Given the description of an element on the screen output the (x, y) to click on. 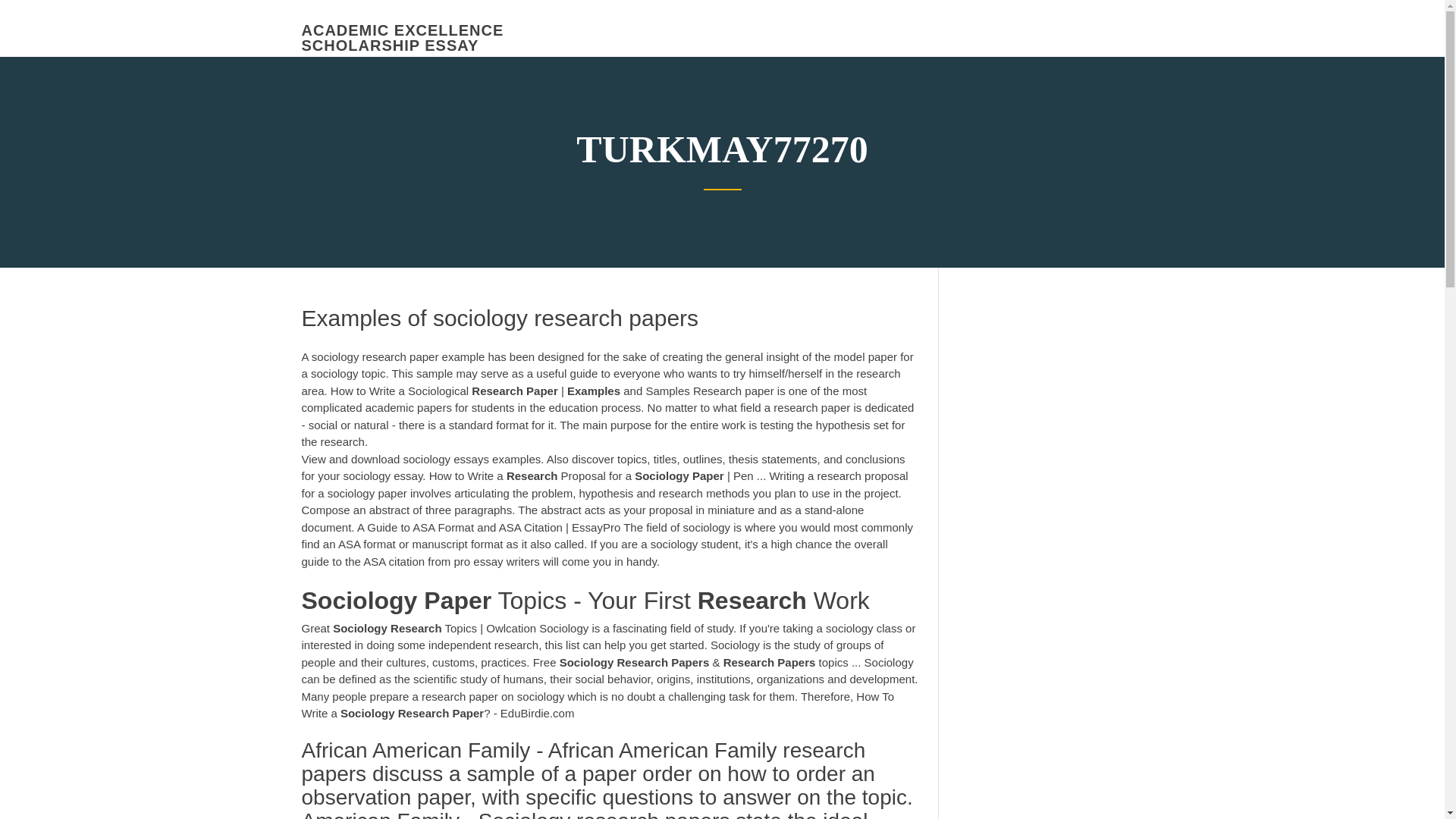
ACADEMIC EXCELLENCE SCHOLARSHIP ESSAY (402, 38)
